Given the description of an element on the screen output the (x, y) to click on. 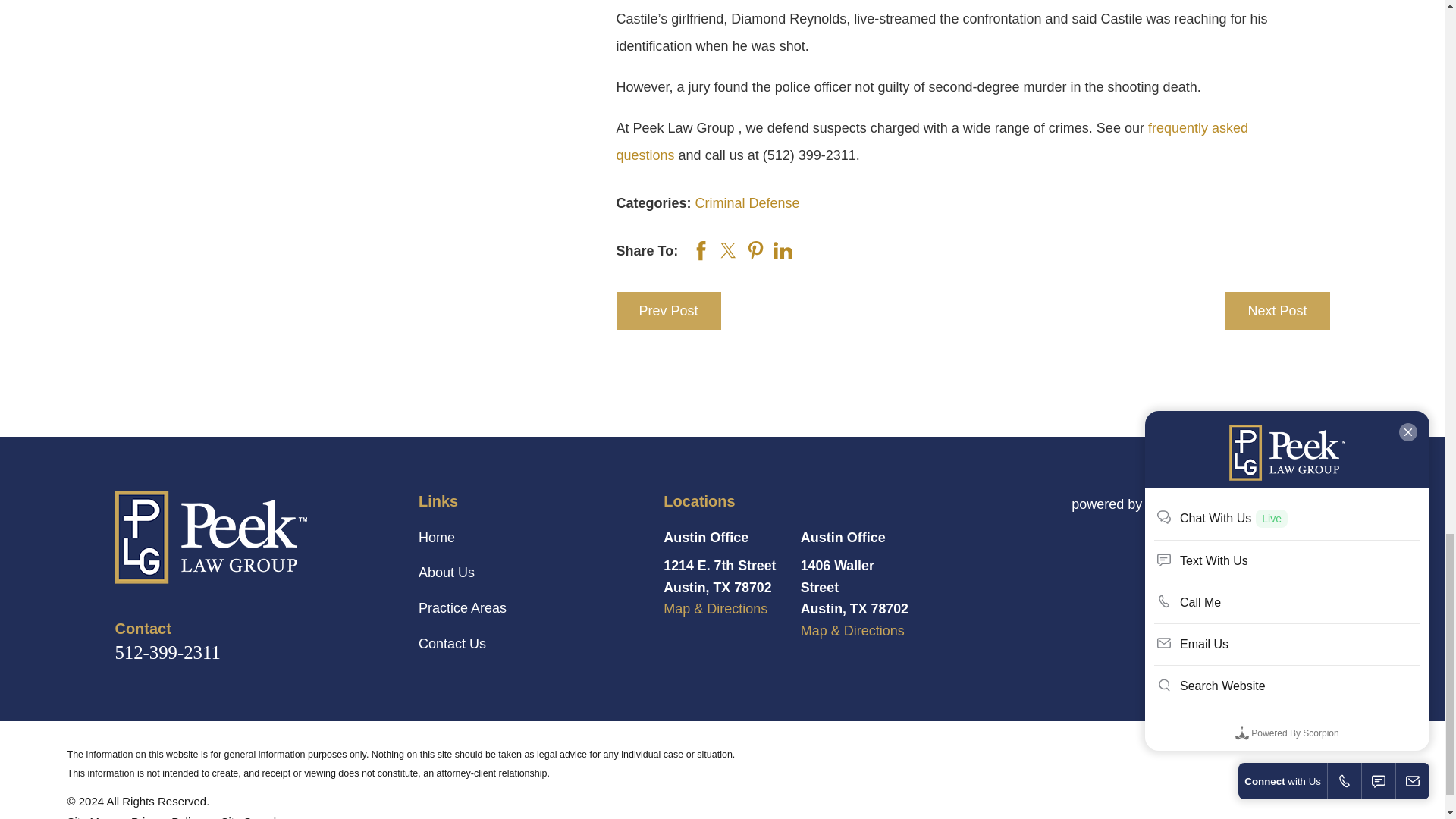
Peek Law Group (211, 536)
Home (249, 536)
